Given the description of an element on the screen output the (x, y) to click on. 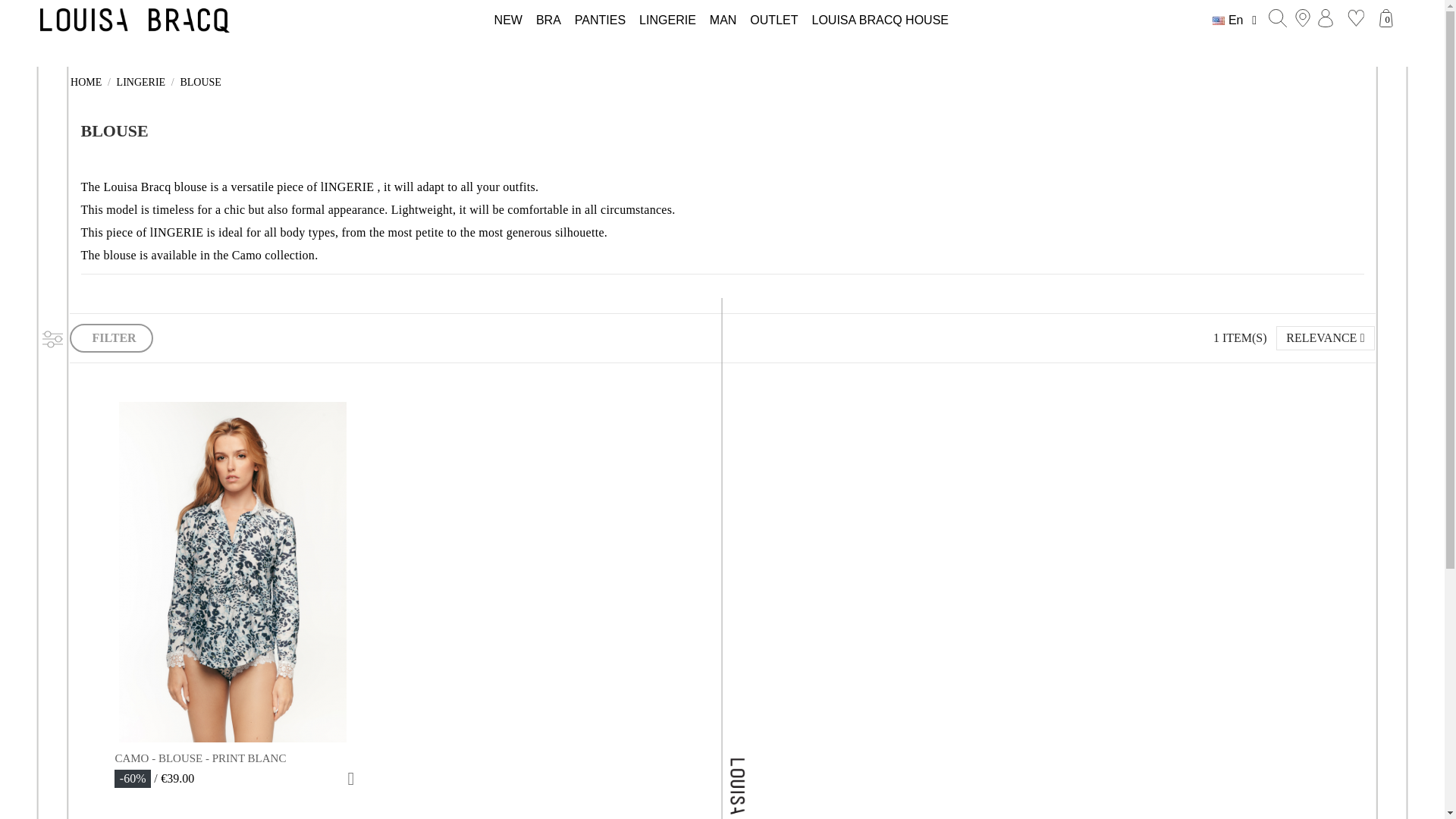
PANTIES (599, 20)
BRA (548, 20)
NEW (508, 20)
